Given the description of an element on the screen output the (x, y) to click on. 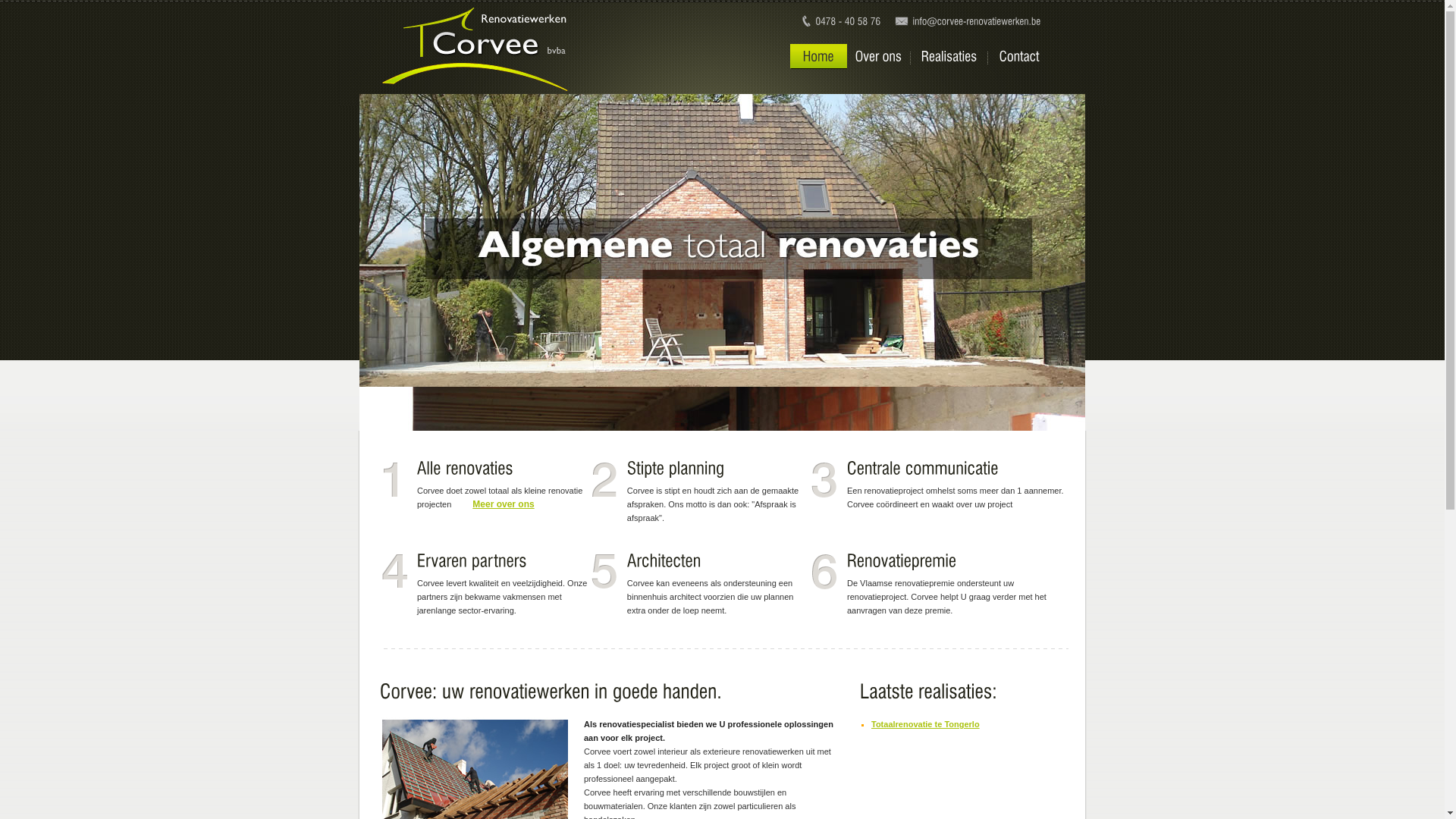
Meer over ons Element type: text (495, 503)
Totaalrenovatie te Tongerlo Element type: text (925, 723)
